Given the description of an element on the screen output the (x, y) to click on. 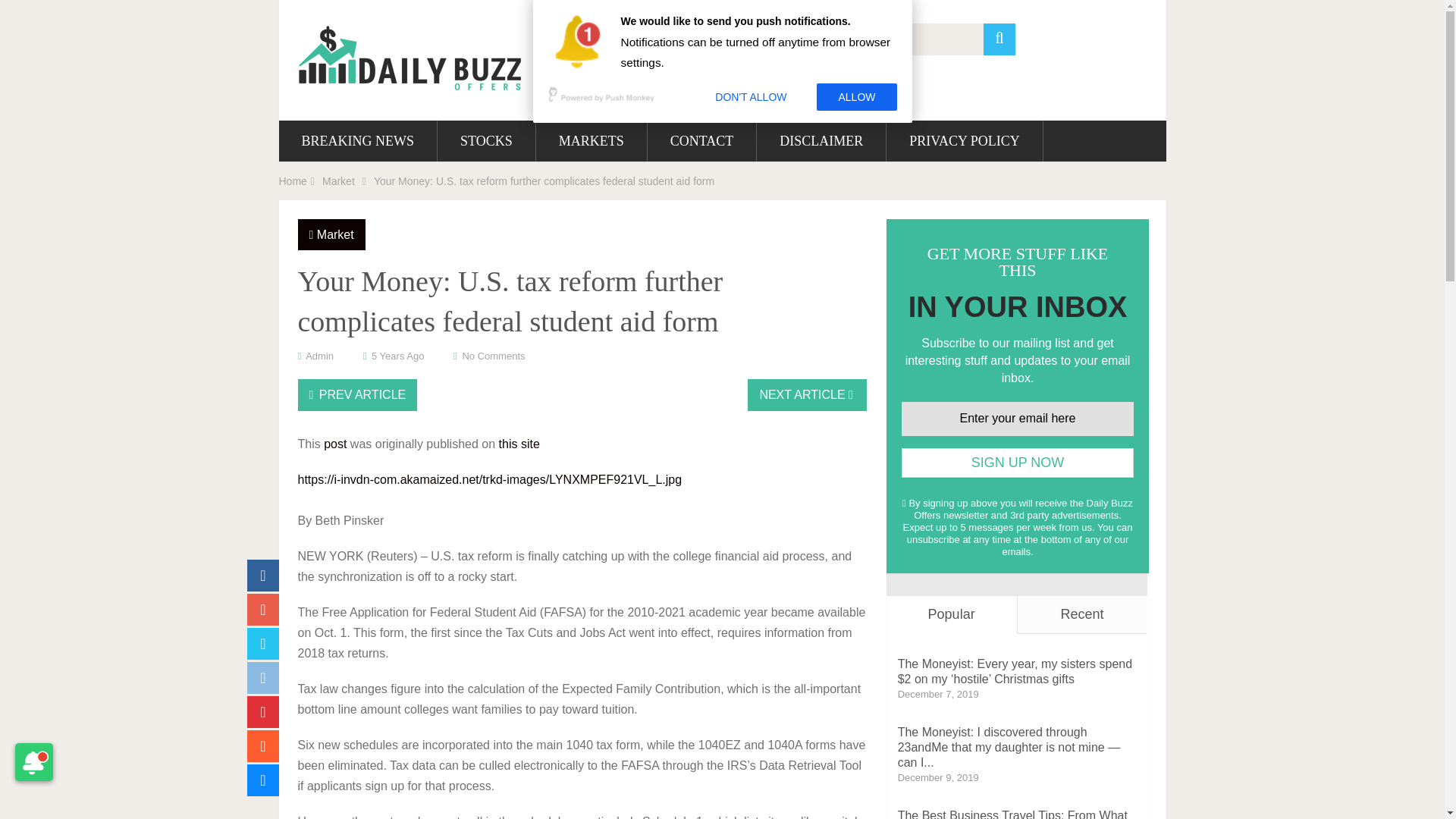
View all posts in Market (335, 234)
this site (519, 443)
DISCLAIMER (821, 140)
Admin (319, 355)
NEXT ARTICLE (807, 395)
Home (293, 181)
Market (335, 234)
Posts by admin (319, 355)
post (334, 443)
No Comments (492, 355)
PRIVACY POLICY (964, 140)
CONTACT (702, 140)
STOCKS (486, 140)
Sign Up Now (1017, 462)
Market (338, 181)
